Given the description of an element on the screen output the (x, y) to click on. 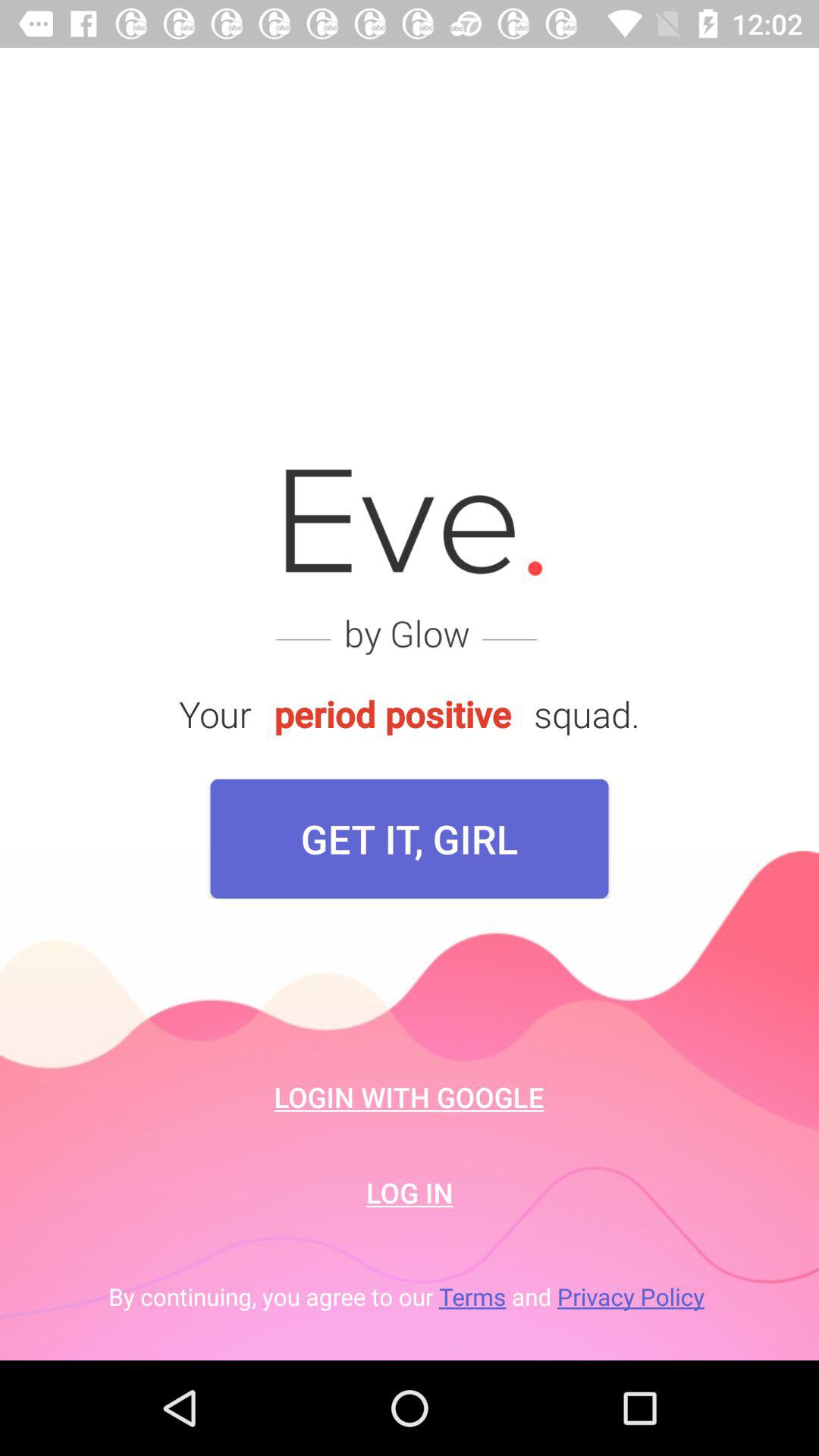
select login with google  item (409, 1096)
